Given the description of an element on the screen output the (x, y) to click on. 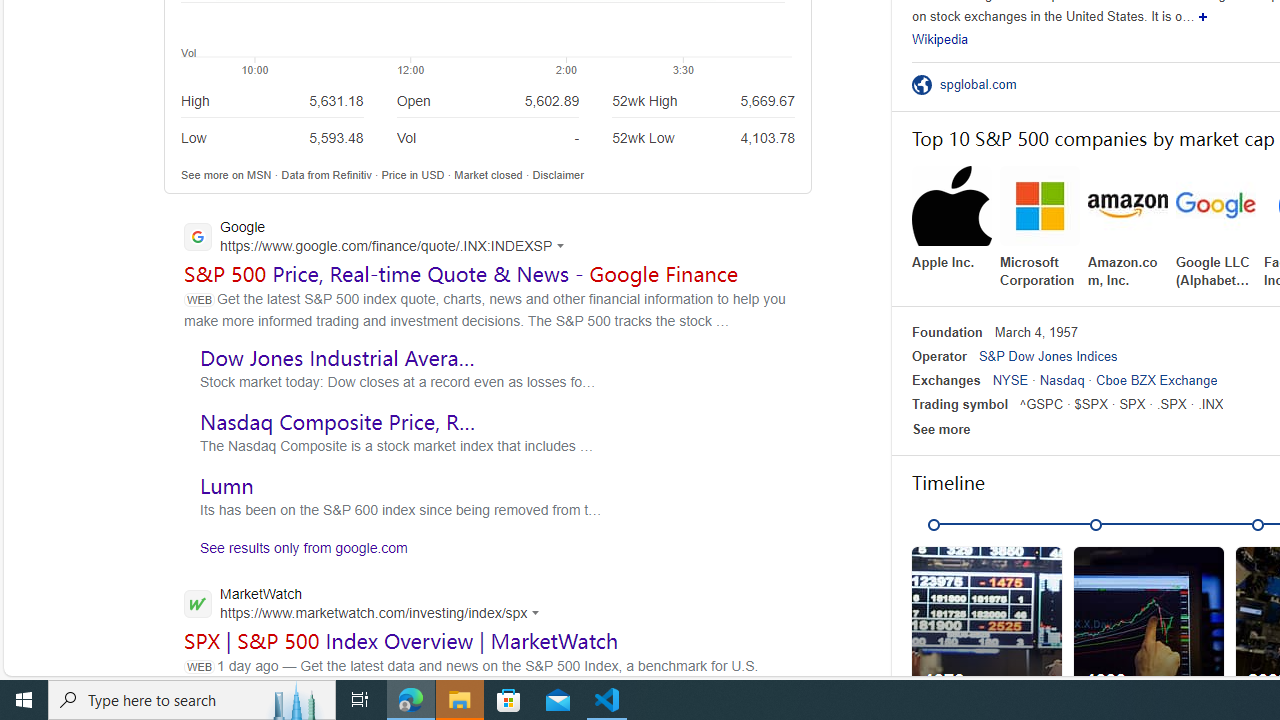
spglobal.com (984, 84)
Nasdaq (1062, 380)
S&P 500 Price, Real-time Quote & News - Google Finance (461, 273)
MarketWatch (367, 605)
Google (380, 237)
Actions for this site (538, 611)
Microsoft Corporation (1039, 228)
Apple Inc. (951, 219)
SPX | S&P 500 Index Overview | MarketWatch (401, 640)
NYSE (1010, 380)
See results only from google.com (296, 551)
Global web icon (197, 603)
